Given the description of an element on the screen output the (x, y) to click on. 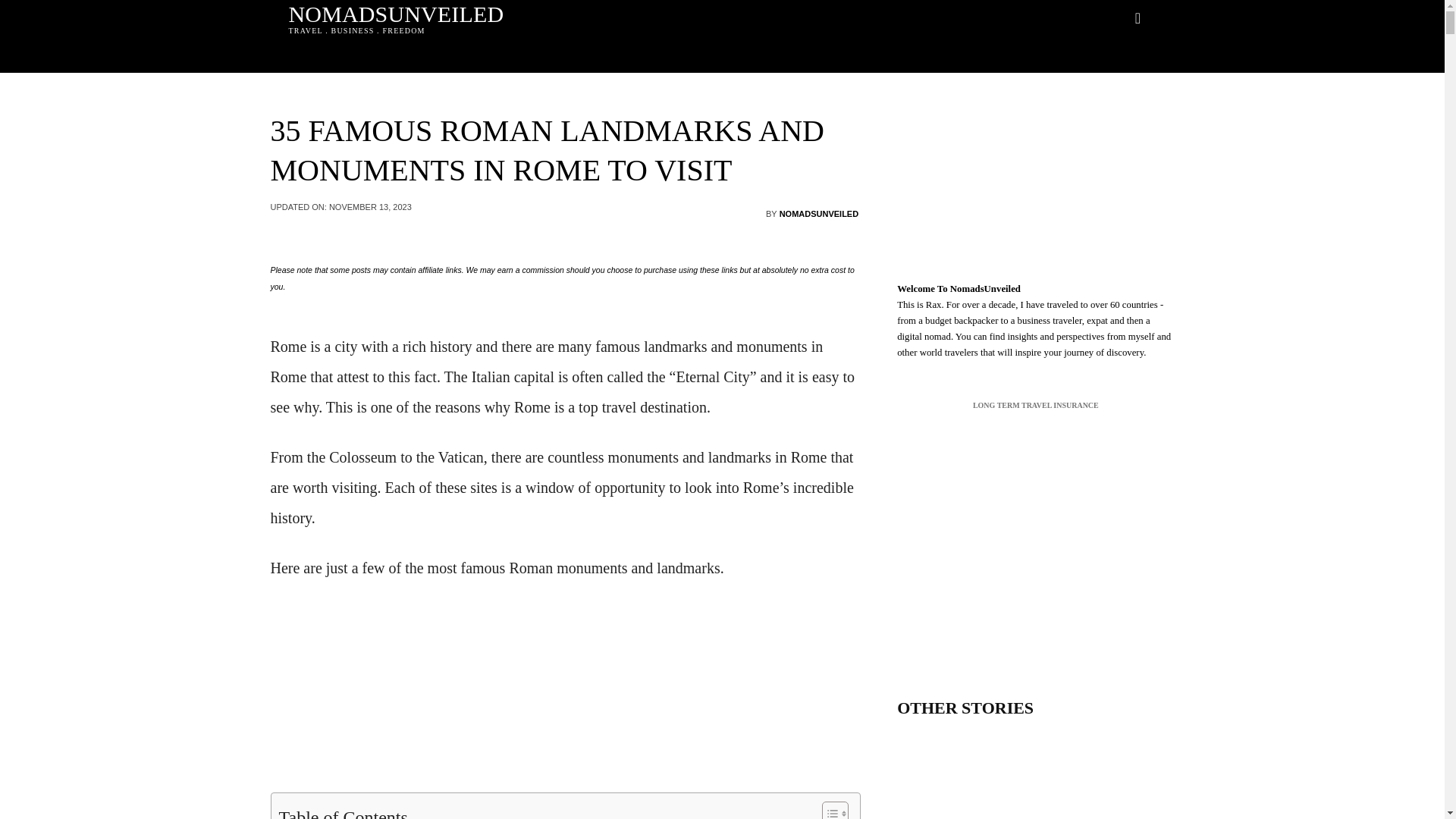
NOMADSUNVEILED (818, 213)
